Given the description of an element on the screen output the (x, y) to click on. 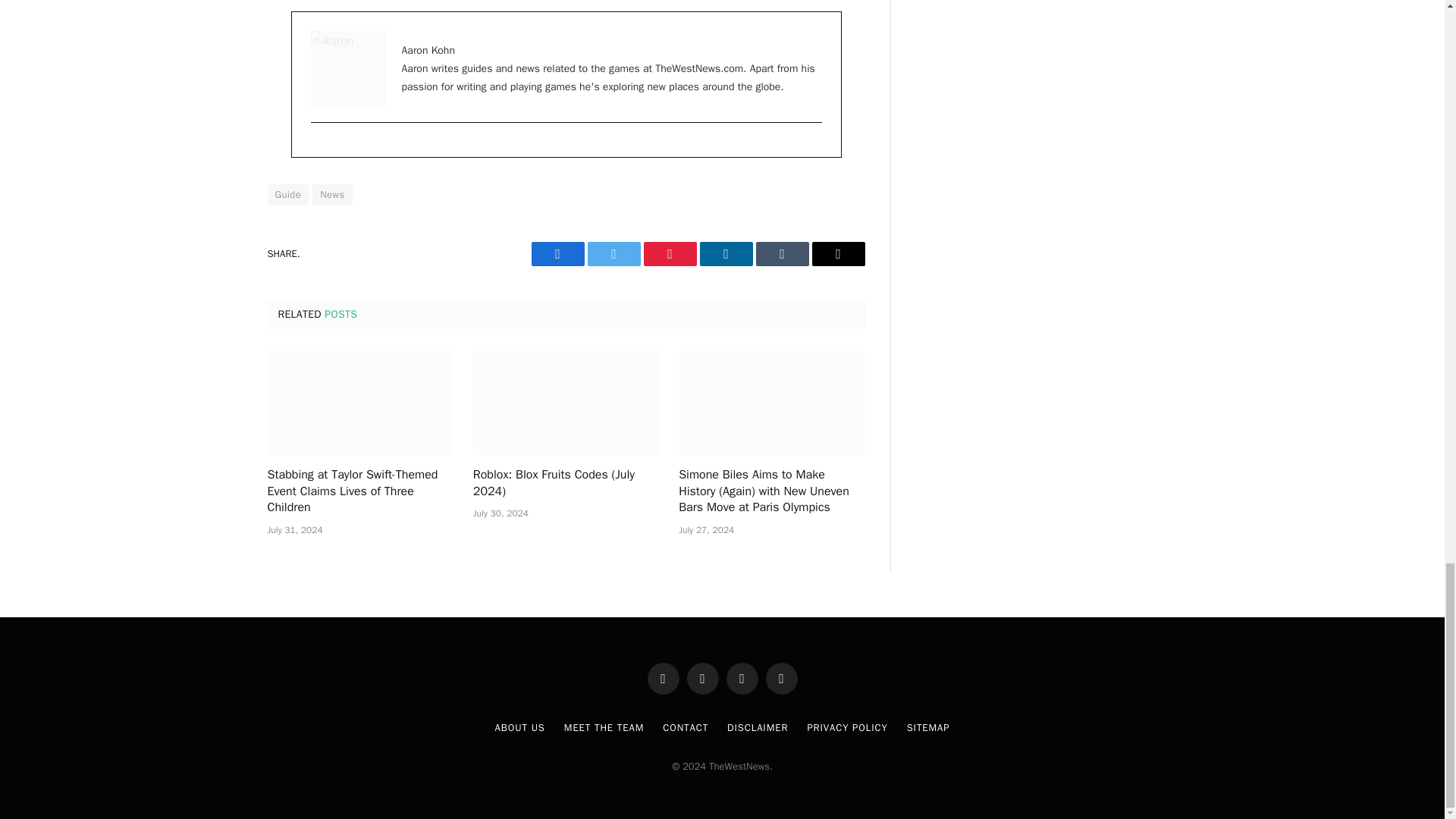
Guide (287, 194)
